Given the description of an element on the screen output the (x, y) to click on. 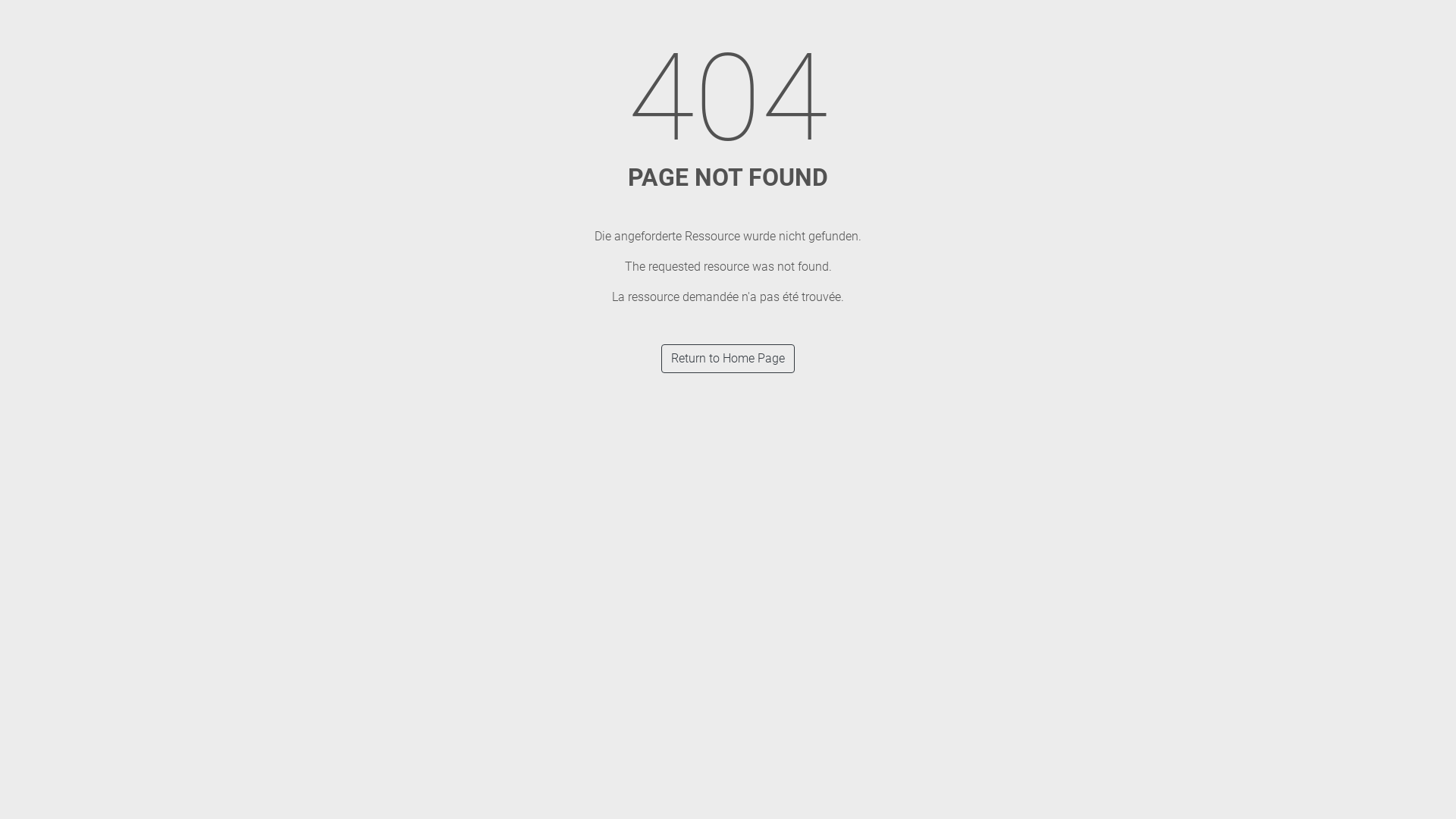
Return to Home Page Element type: text (727, 358)
